Given the description of an element on the screen output the (x, y) to click on. 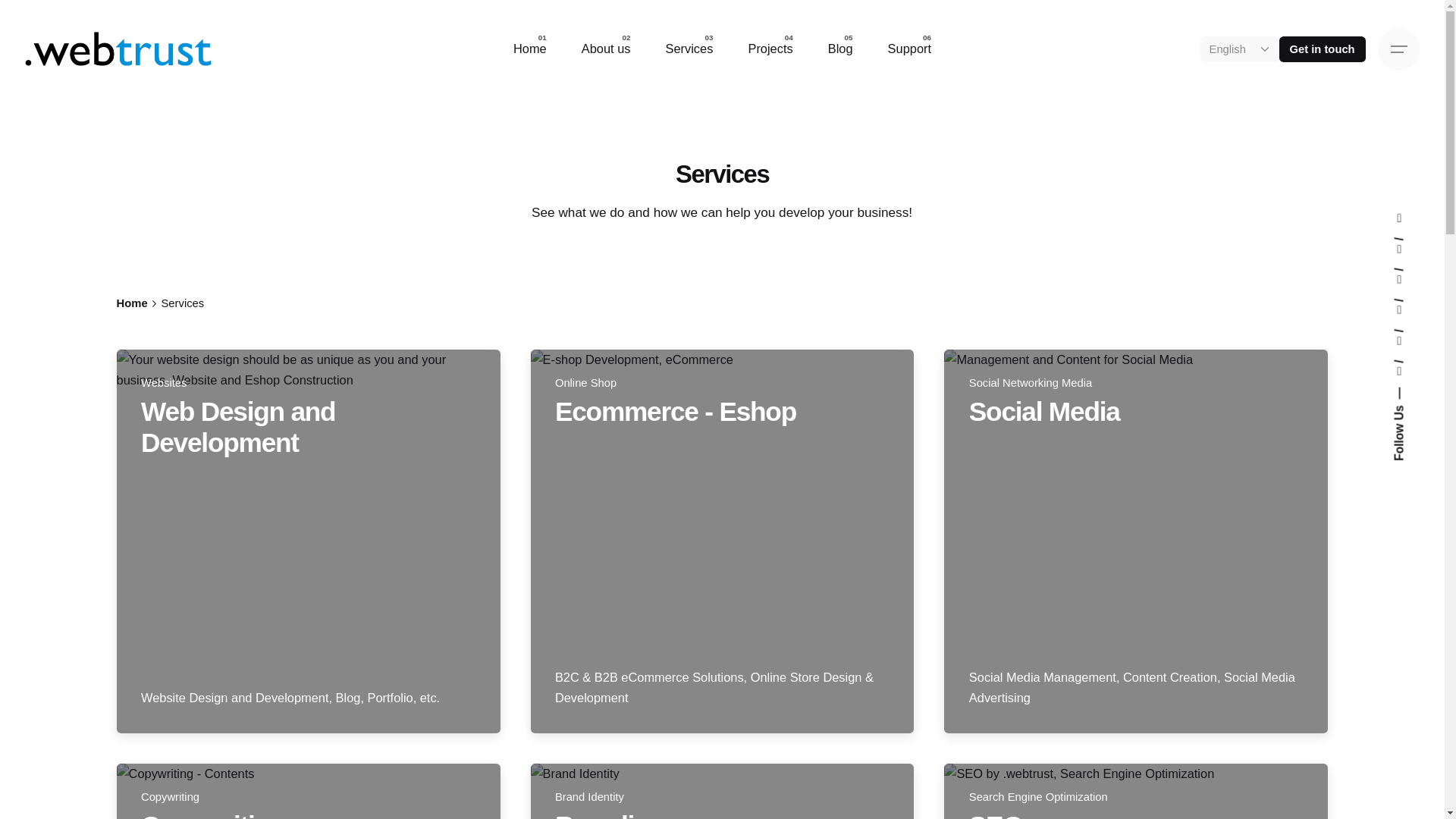
Support (909, 49)
Home (530, 49)
Get in touch (1322, 49)
Projects (769, 49)
About us (605, 49)
Blog (840, 49)
Services (688, 49)
